Given the description of an element on the screen output the (x, y) to click on. 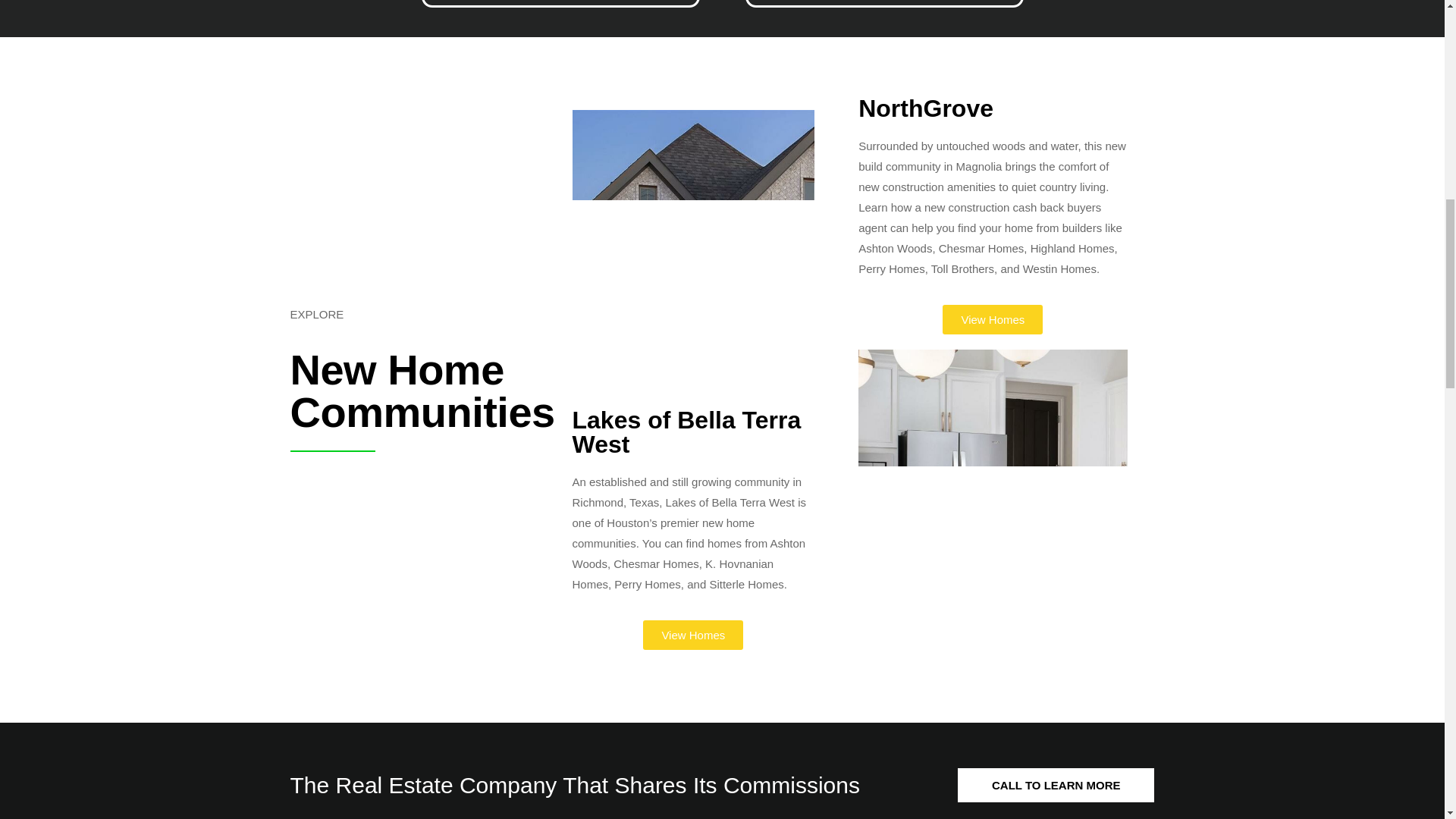
Lakes of Bella Terra West (686, 431)
NorthGrove (925, 108)
View Homes (692, 634)
CALL TO LEARN MORE (1056, 785)
View Homes (992, 319)
